Given the description of an element on the screen output the (x, y) to click on. 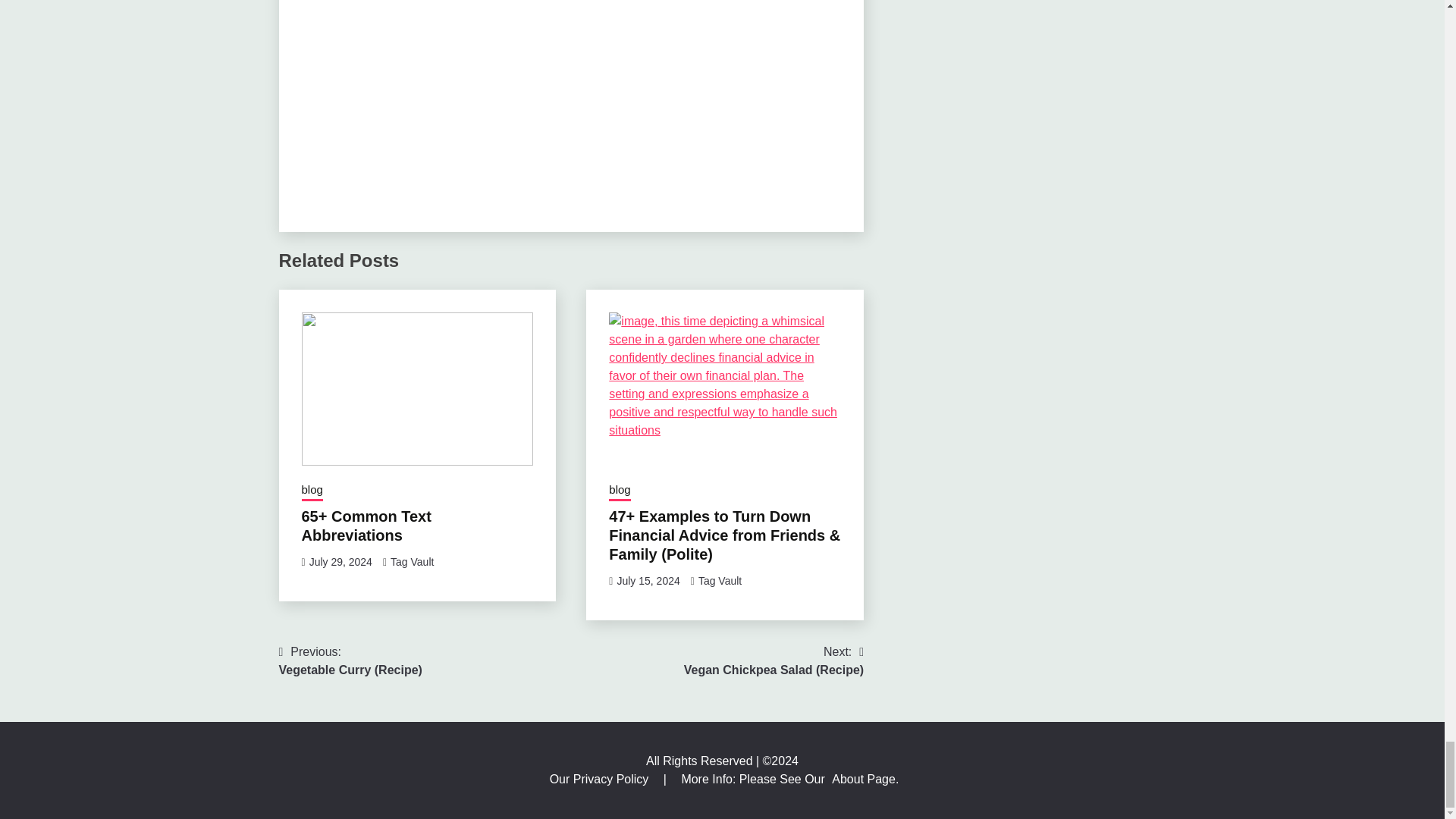
Our Privacy Policy (601, 779)
Tag Vault (411, 562)
July 15, 2024 (647, 580)
blog (312, 491)
Tag Vault (719, 580)
About Page (863, 779)
blog (619, 491)
July 29, 2024 (340, 562)
